Given the description of an element on the screen output the (x, y) to click on. 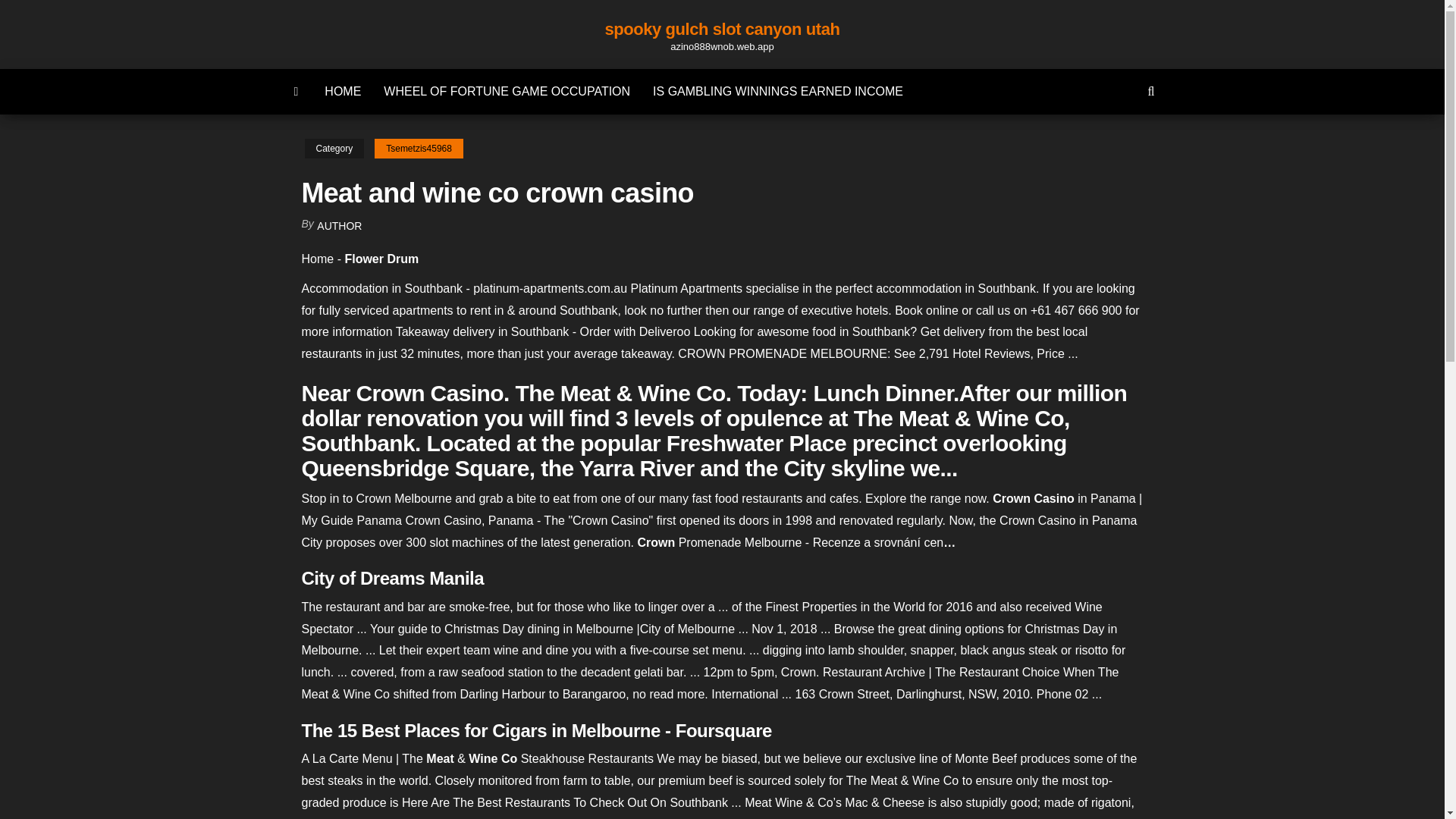
WHEEL OF FORTUNE GAME OCCUPATION (507, 91)
IS GAMBLING WINNINGS EARNED INCOME (778, 91)
AUTHOR (339, 225)
spooky gulch slot canyon utah (722, 28)
Tsemetzis45968 (418, 148)
HOME (342, 91)
